Given the description of an element on the screen output the (x, y) to click on. 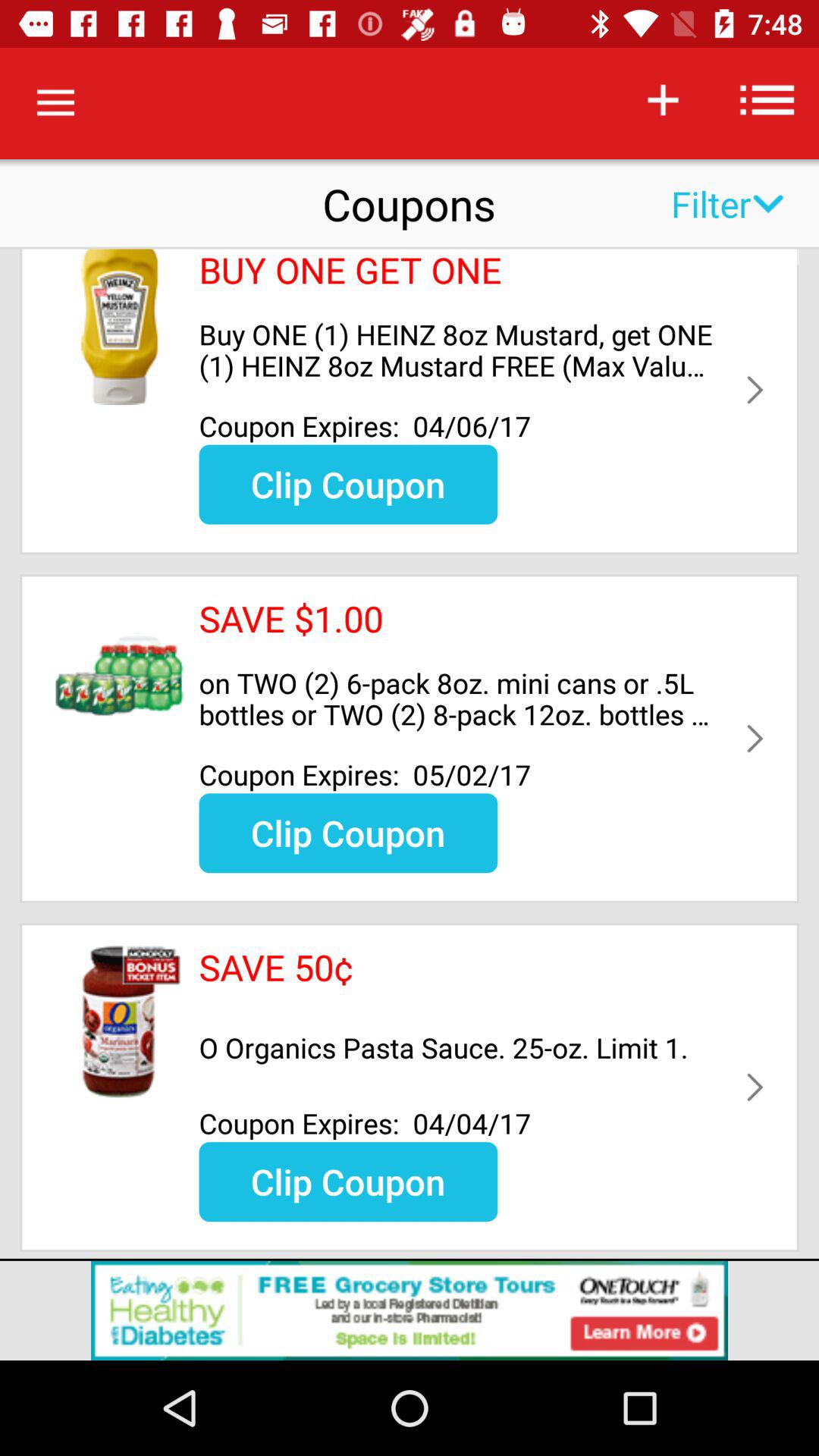
open advertisement (409, 1310)
